Given the description of an element on the screen output the (x, y) to click on. 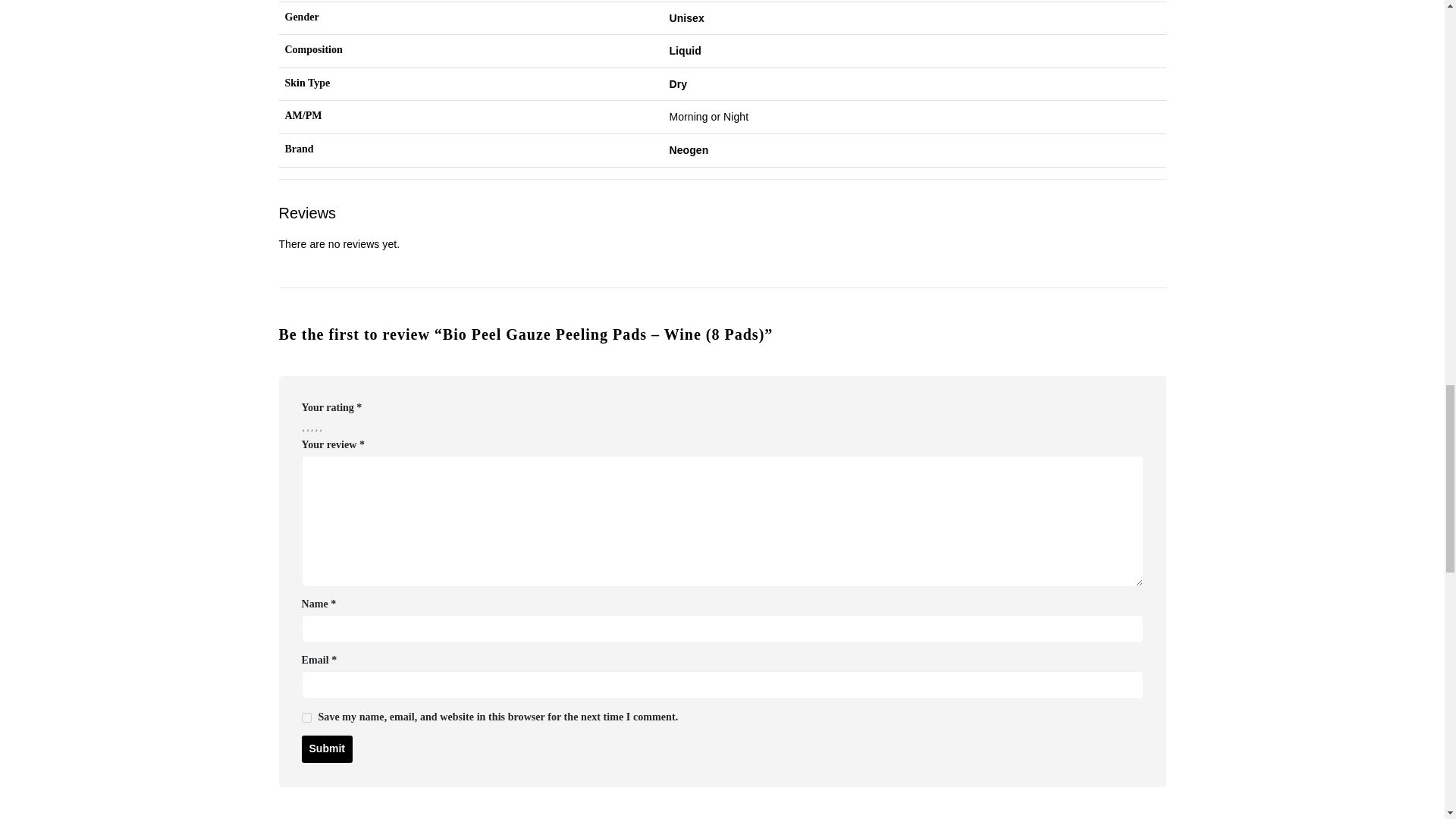
Submit (326, 748)
yes (306, 717)
